Given the description of an element on the screen output the (x, y) to click on. 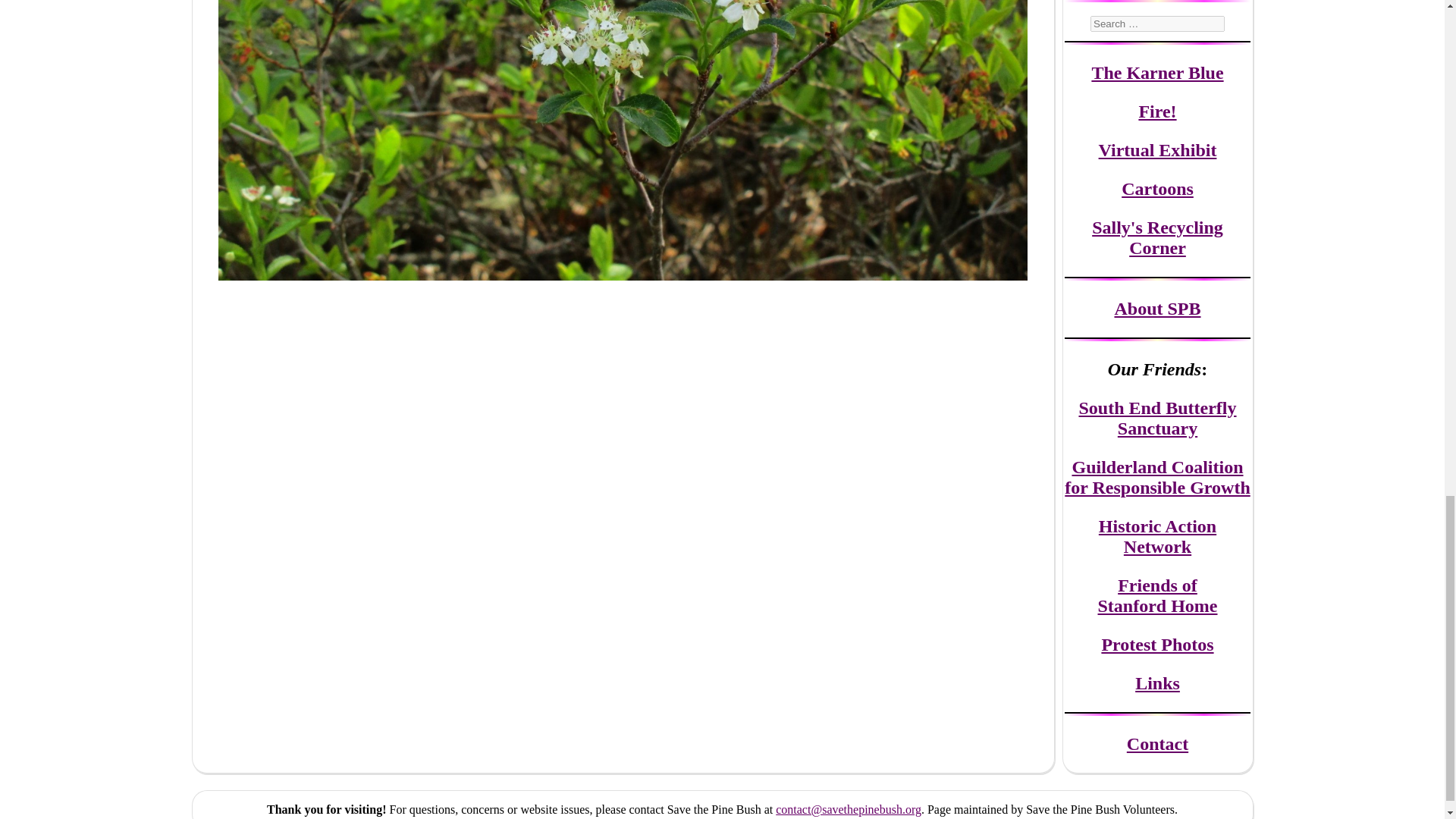
Virtual Exhibit (1158, 149)
Cartoons (1157, 189)
The Karner Blue (1156, 72)
Search Newsletter Archives (1157, 23)
Fire! (1157, 111)
